Given the description of an element on the screen output the (x, y) to click on. 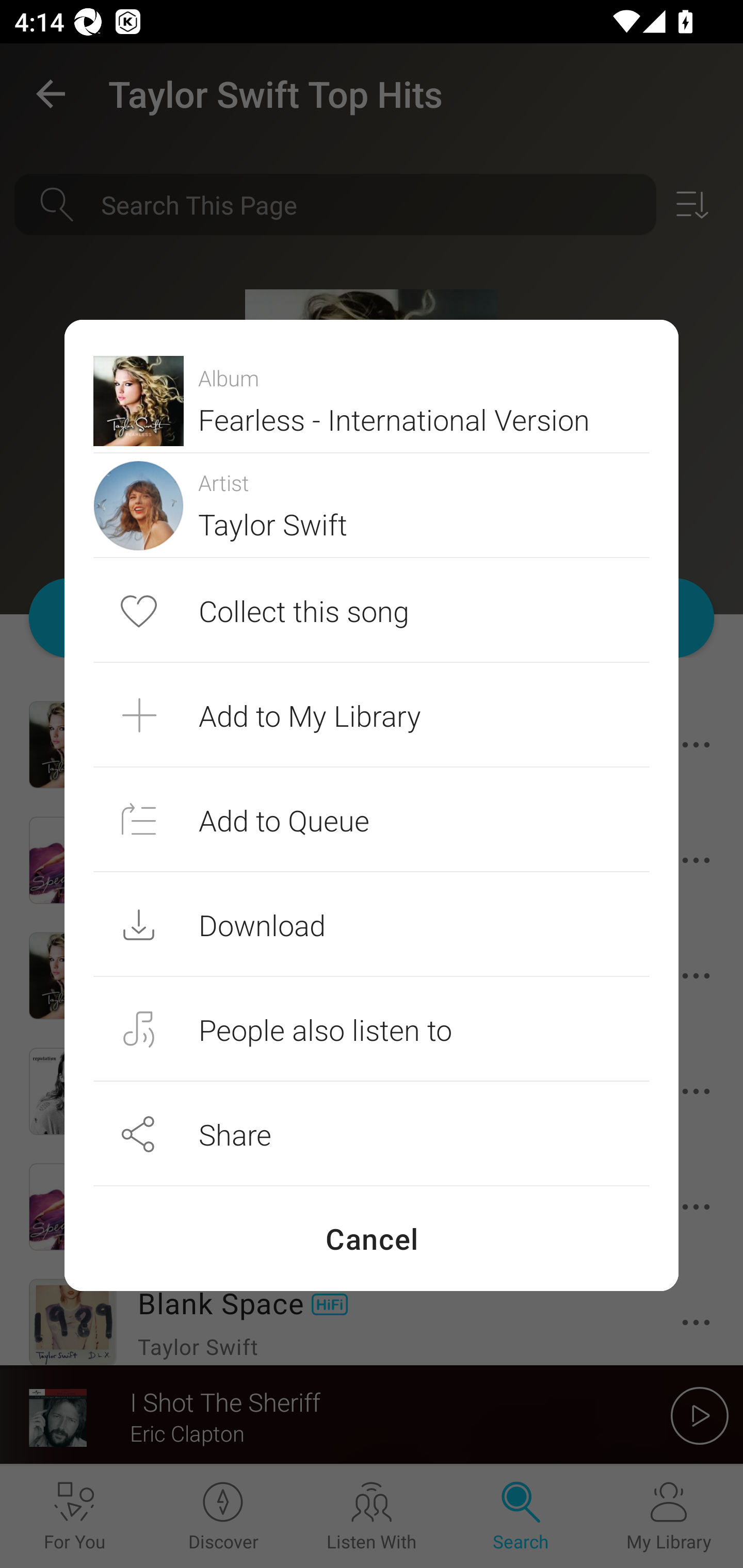
Album Fearless - International Version (371, 400)
Artist Taylor Swift (371, 505)
Collect this song (371, 610)
Add to My Library (371, 714)
Add to Queue (371, 818)
Download (371, 923)
People also listen to (371, 1028)
Share (371, 1133)
Cancel (371, 1238)
